Given the description of an element on the screen output the (x, y) to click on. 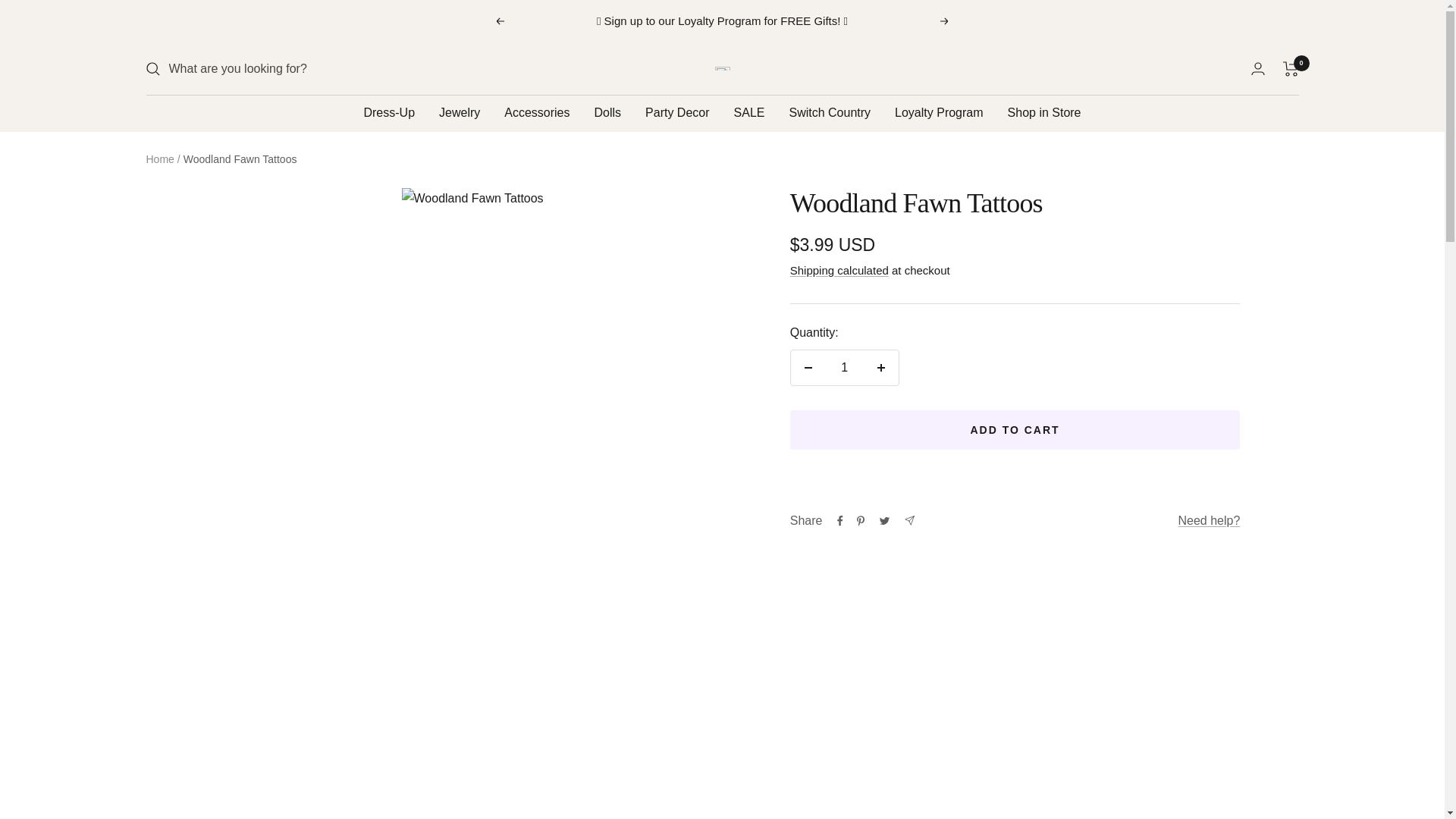
Switch Country (829, 112)
Increase quantity (880, 367)
Great Pretenders USA (721, 68)
Dolls (607, 112)
Party Decor (677, 112)
ADD TO CART (1015, 429)
SALE (749, 112)
Shipping calculated (839, 269)
Shop in Store (1044, 112)
Next (944, 21)
Dress-Up (388, 112)
Loyalty Program (939, 112)
0 (1290, 68)
1 (844, 367)
Jewelry (459, 112)
